Given the description of an element on the screen output the (x, y) to click on. 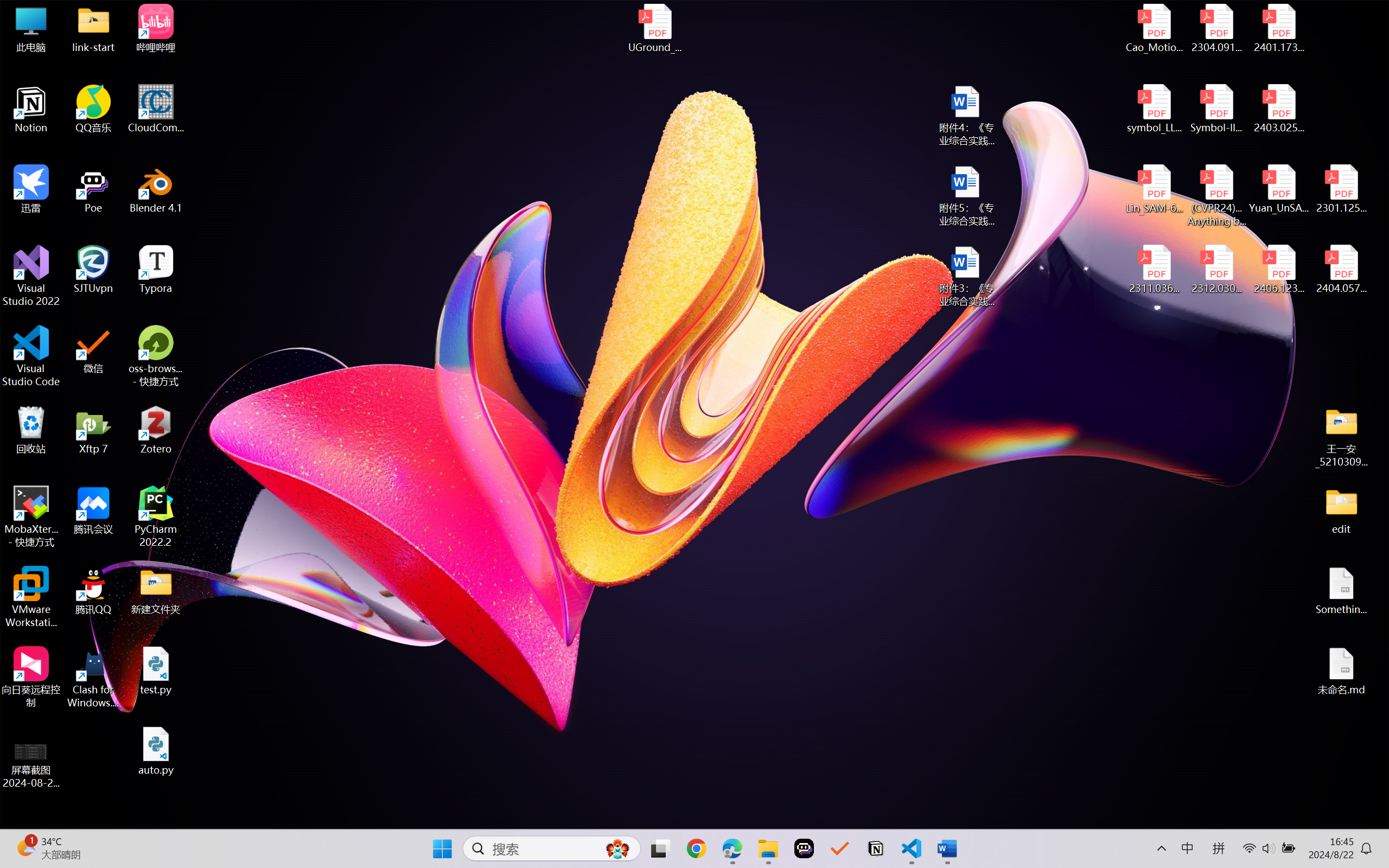
Xftp 7 (93, 430)
2304.09121v3.pdf (1216, 28)
2401.17399v1.pdf (1278, 28)
Visual Studio Code (31, 355)
edit (1340, 510)
2404.05719v1.pdf (1340, 269)
2301.12597v3.pdf (1340, 189)
